Given the description of an element on the screen output the (x, y) to click on. 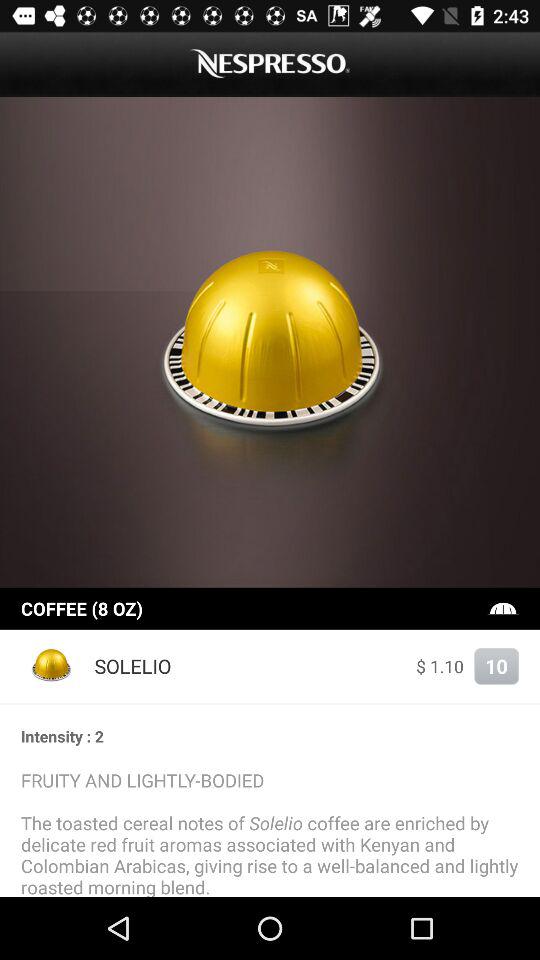
choose $ 1.10 (439, 666)
